Given the description of an element on the screen output the (x, y) to click on. 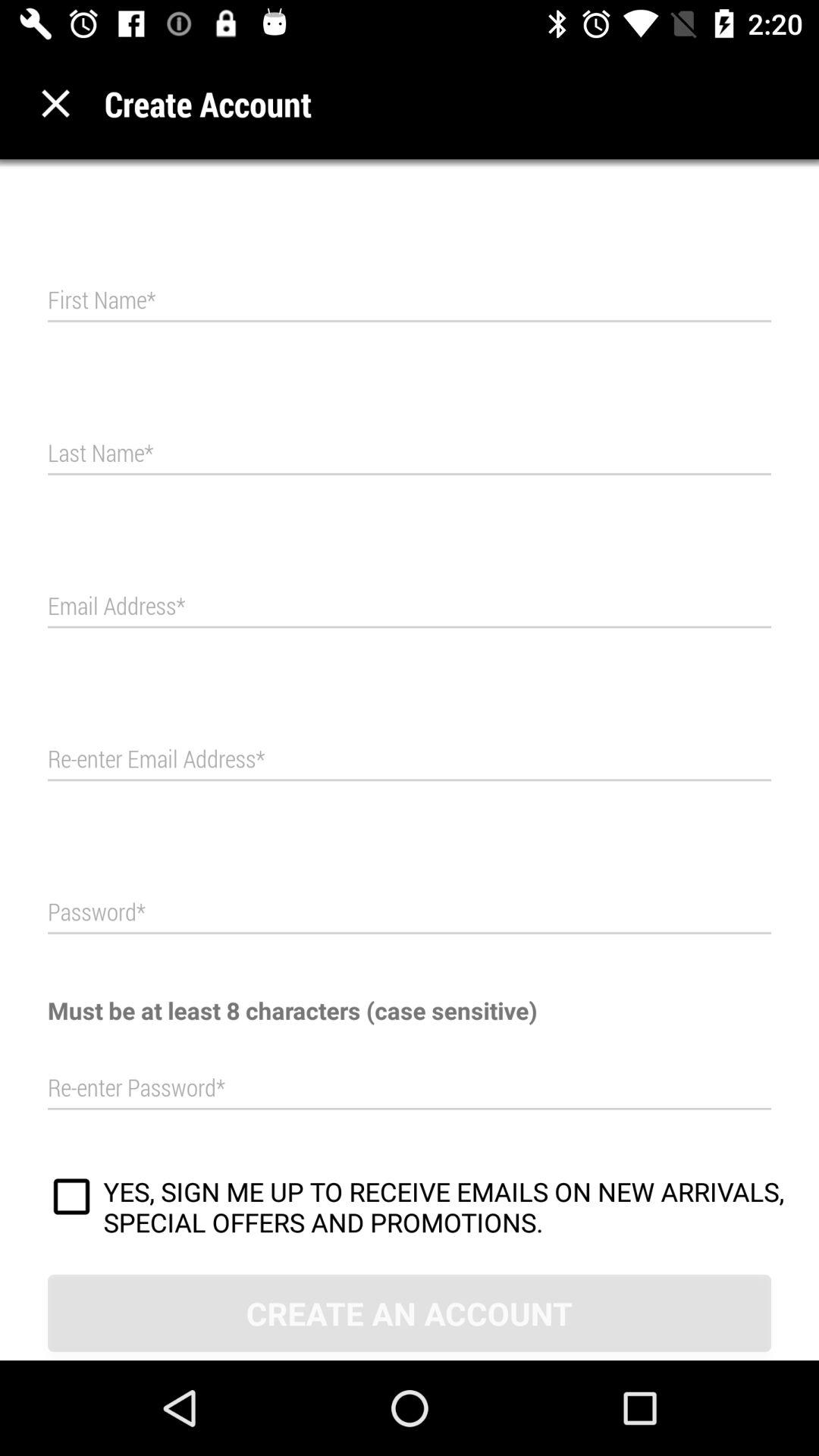
enter password (409, 912)
